Given the description of an element on the screen output the (x, y) to click on. 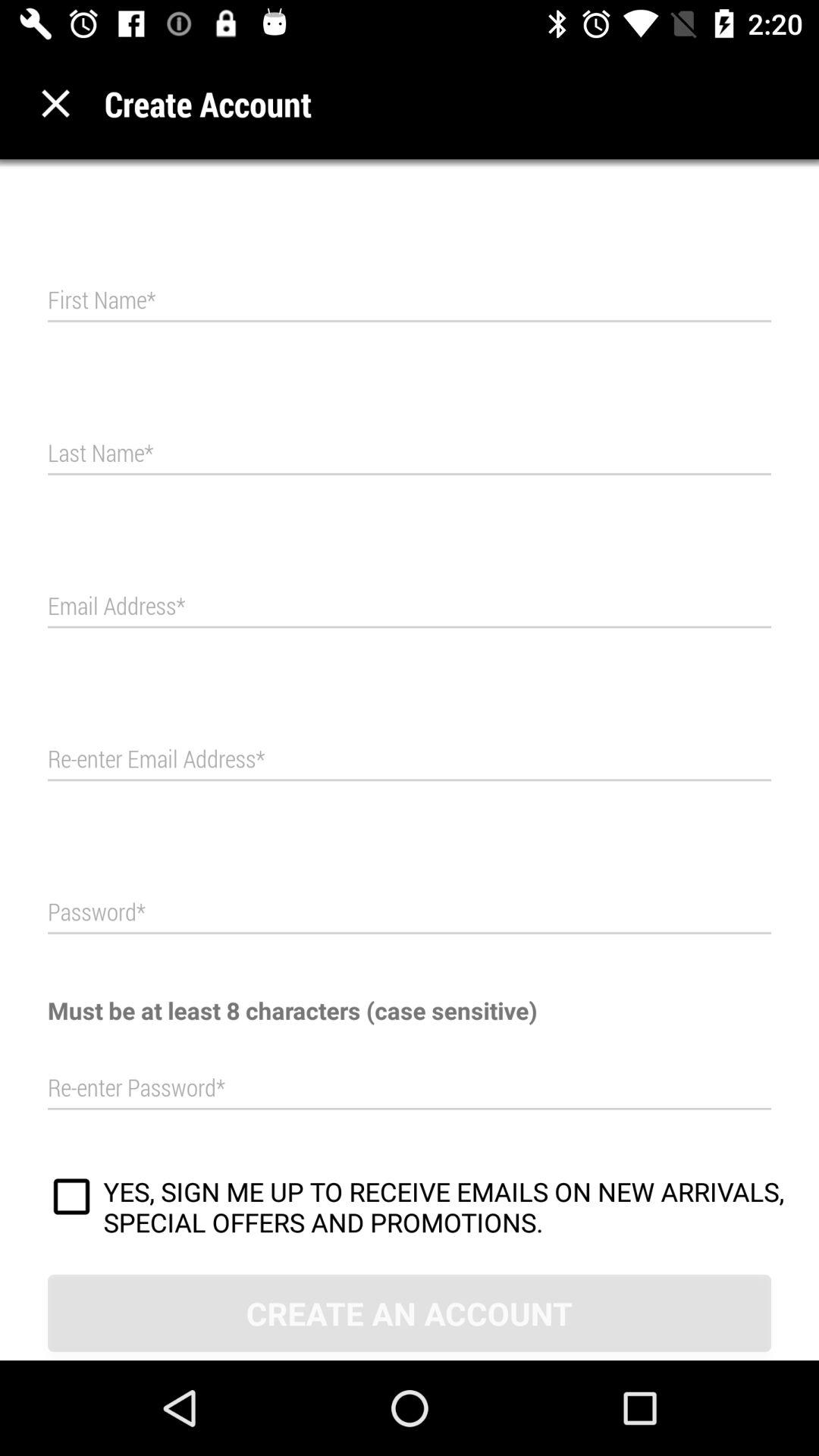
enter password (409, 912)
